Given the description of an element on the screen output the (x, y) to click on. 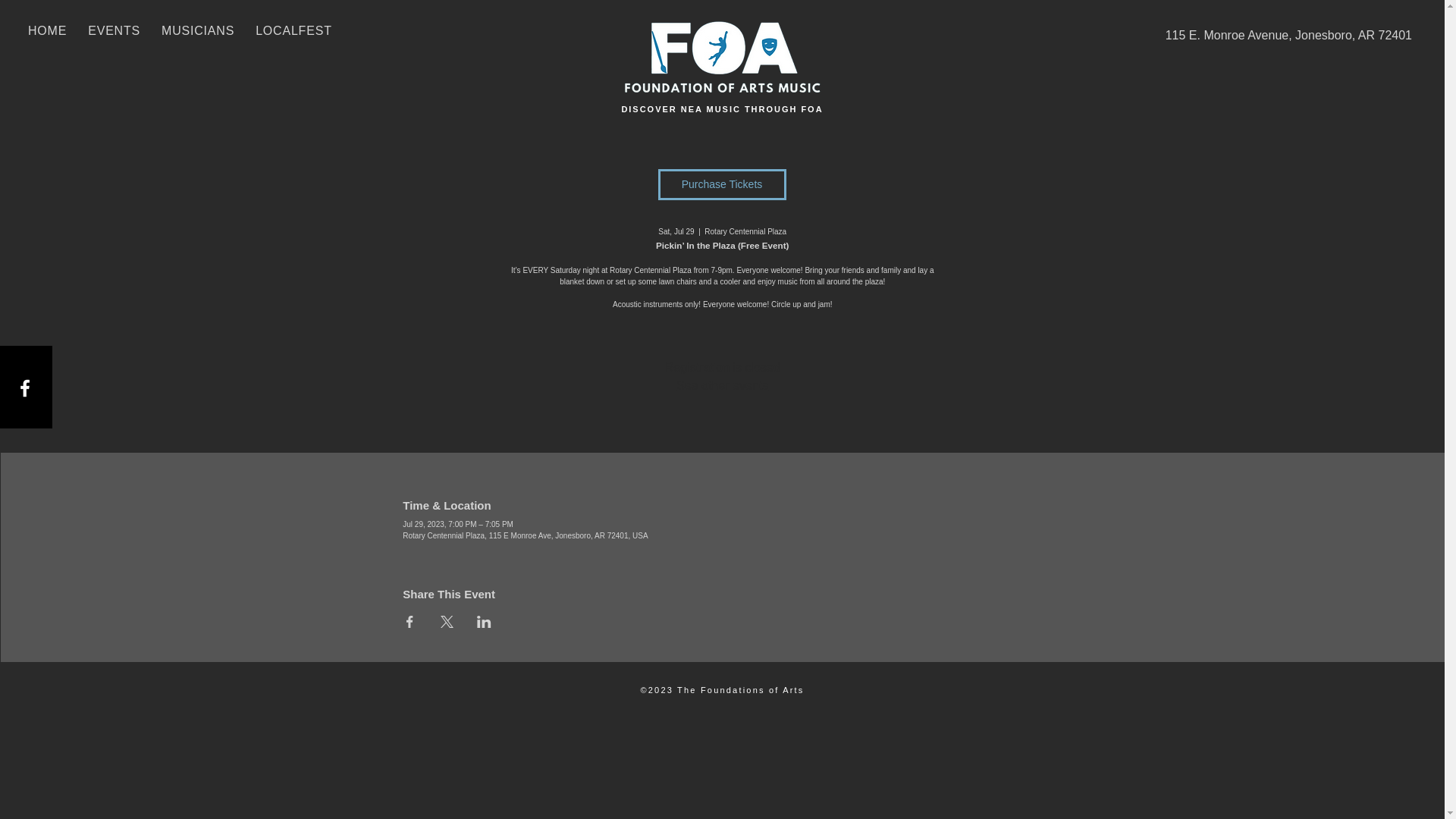
Purchase Tickets (722, 183)
DISCOVER NEA MUSIC THROUGH FOA (721, 108)
EVENTS (114, 30)
LOCALFEST (293, 30)
HOME (47, 30)
MUSICIANS (197, 30)
115 E. Monroe Avenue, Jonesboro, AR 72401 (1268, 35)
See other events (722, 385)
